Given the description of an element on the screen output the (x, y) to click on. 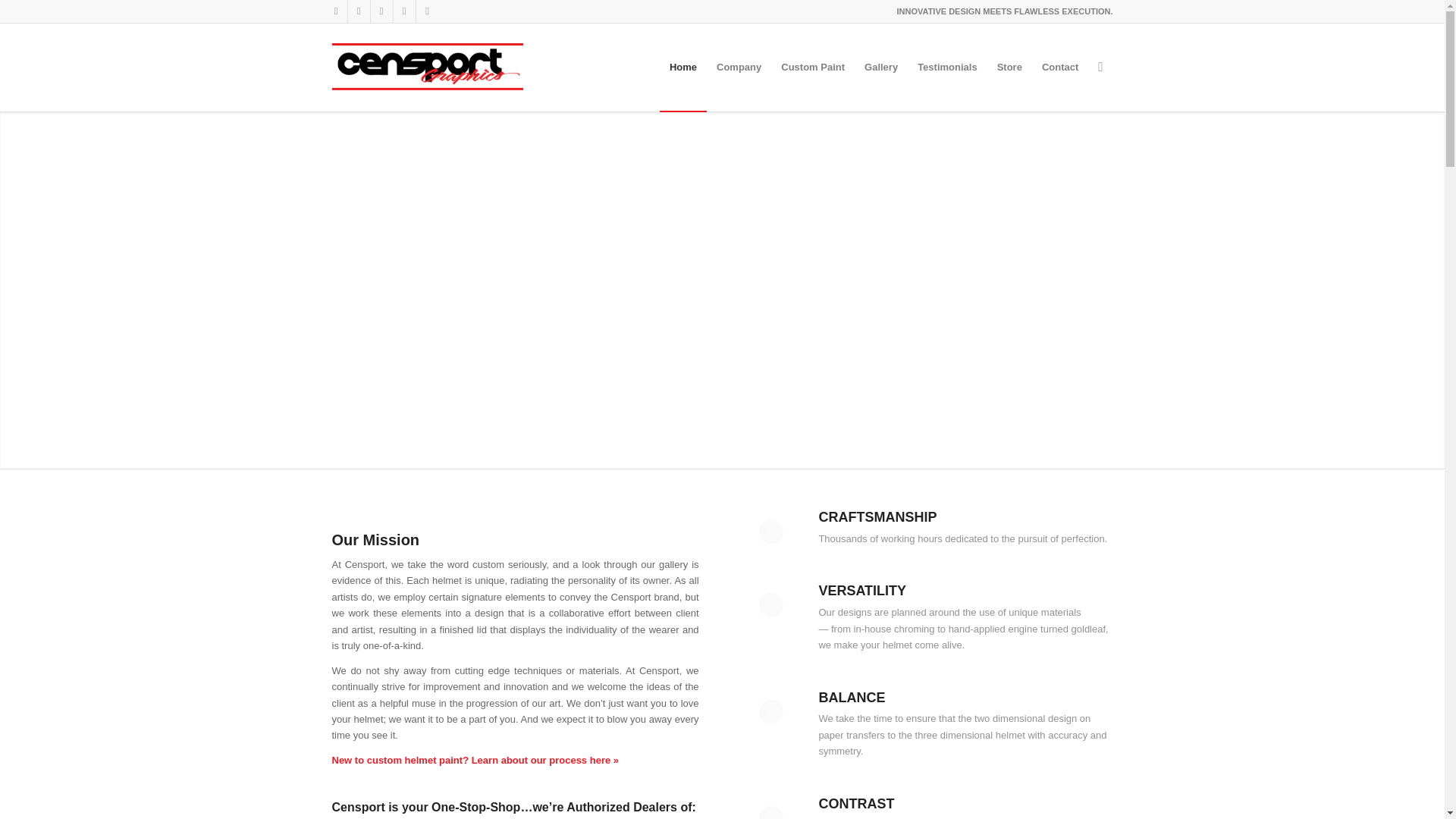
Twitter (380, 11)
Process (475, 759)
Testimonials (947, 67)
Instagram (358, 11)
Facebook (335, 11)
Mail (426, 11)
Custom Paint (812, 67)
Youtube (403, 11)
